Given the description of an element on the screen output the (x, y) to click on. 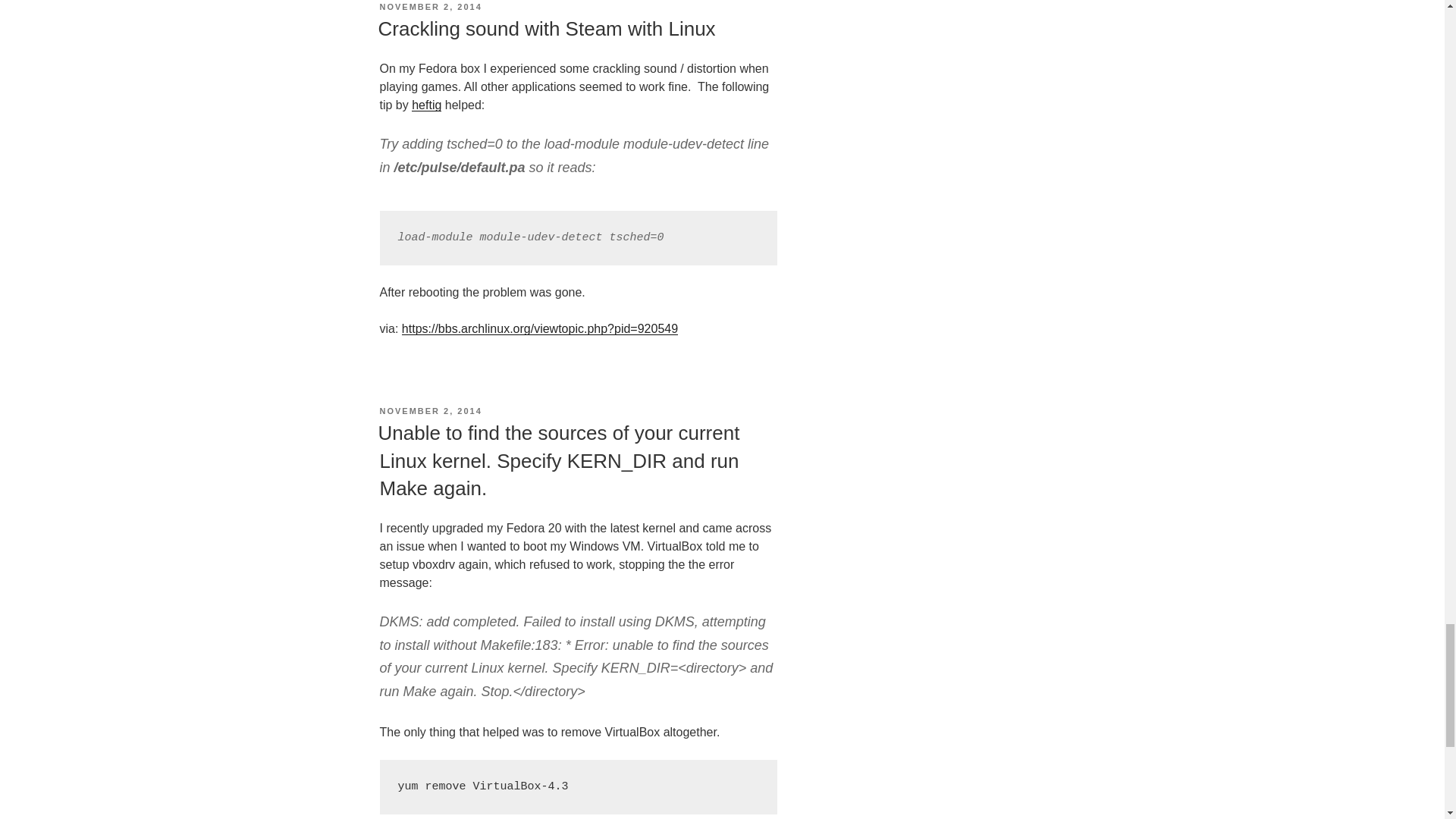
NOVEMBER 2, 2014 (429, 410)
NOVEMBER 2, 2014 (429, 6)
Crackling sound with Steam with Linux (545, 28)
heftig (426, 104)
